Given the description of an element on the screen output the (x, y) to click on. 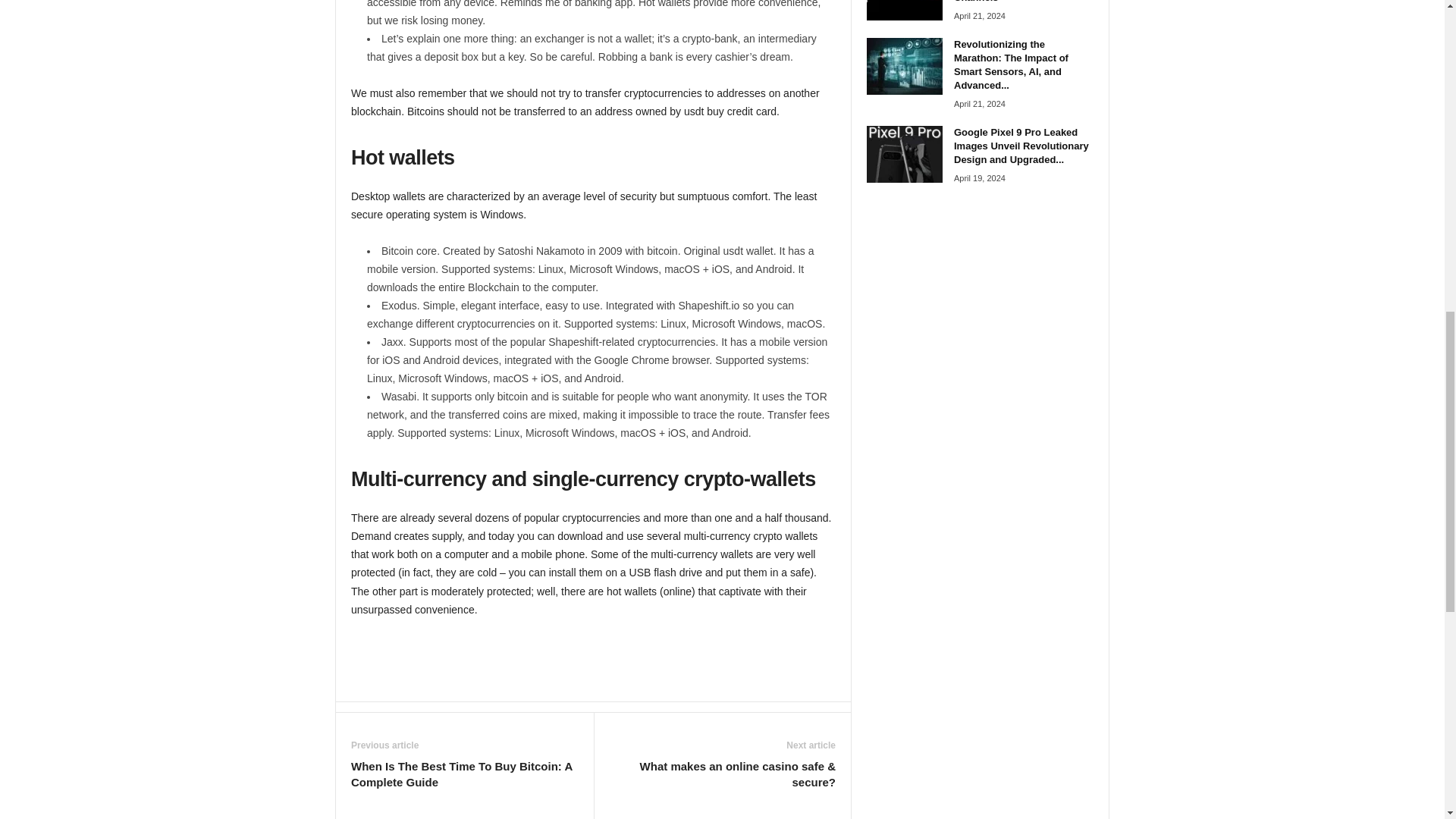
When Is The Best Time To Buy Bitcoin: A Complete Guide (464, 774)
Advertisement (593, 659)
